Given the description of an element on the screen output the (x, y) to click on. 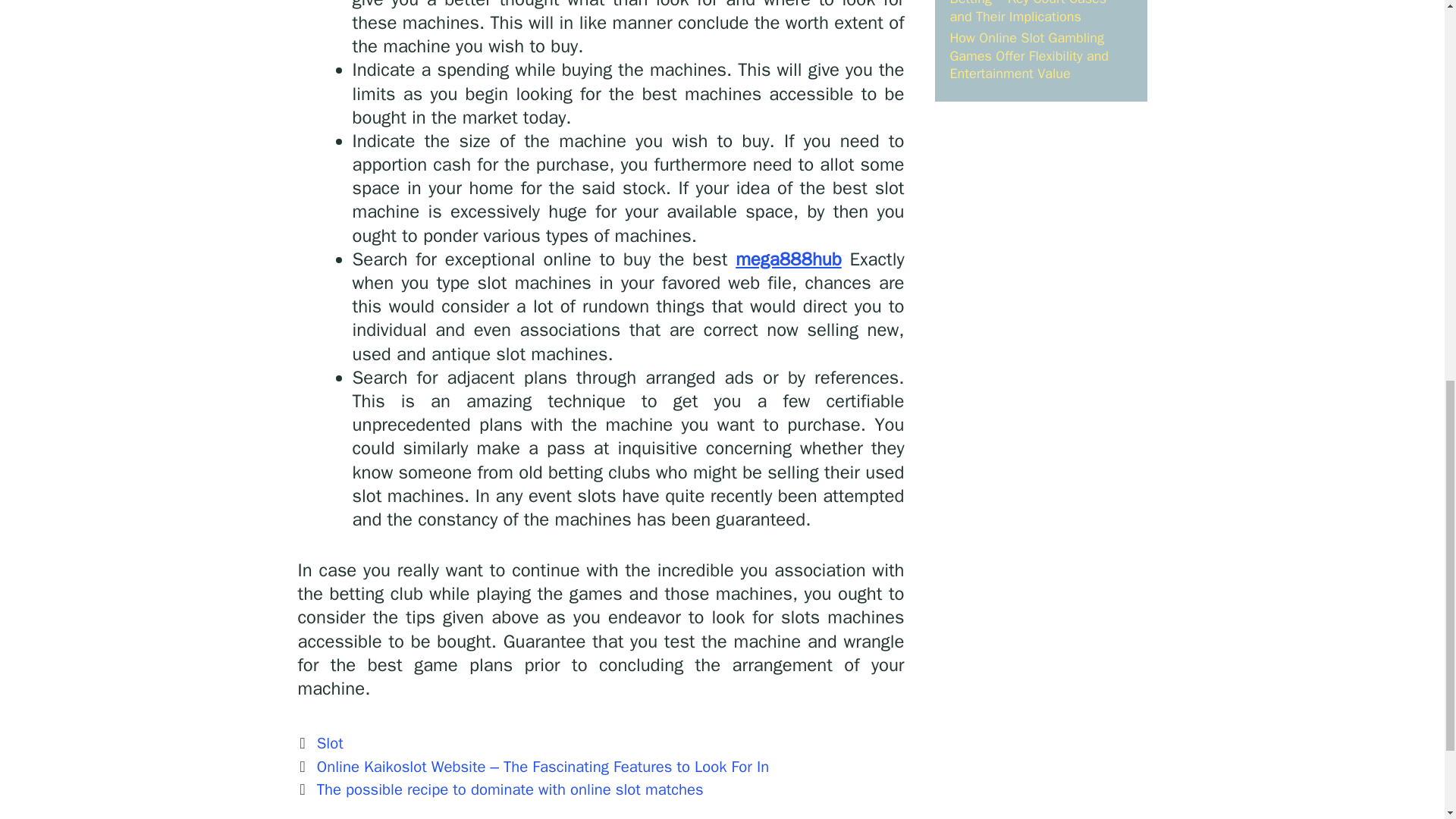
The possible recipe to dominate with online slot matches (510, 789)
Previous (532, 766)
mega888hub (788, 259)
Next (500, 789)
Slot (330, 742)
